Given the description of an element on the screen output the (x, y) to click on. 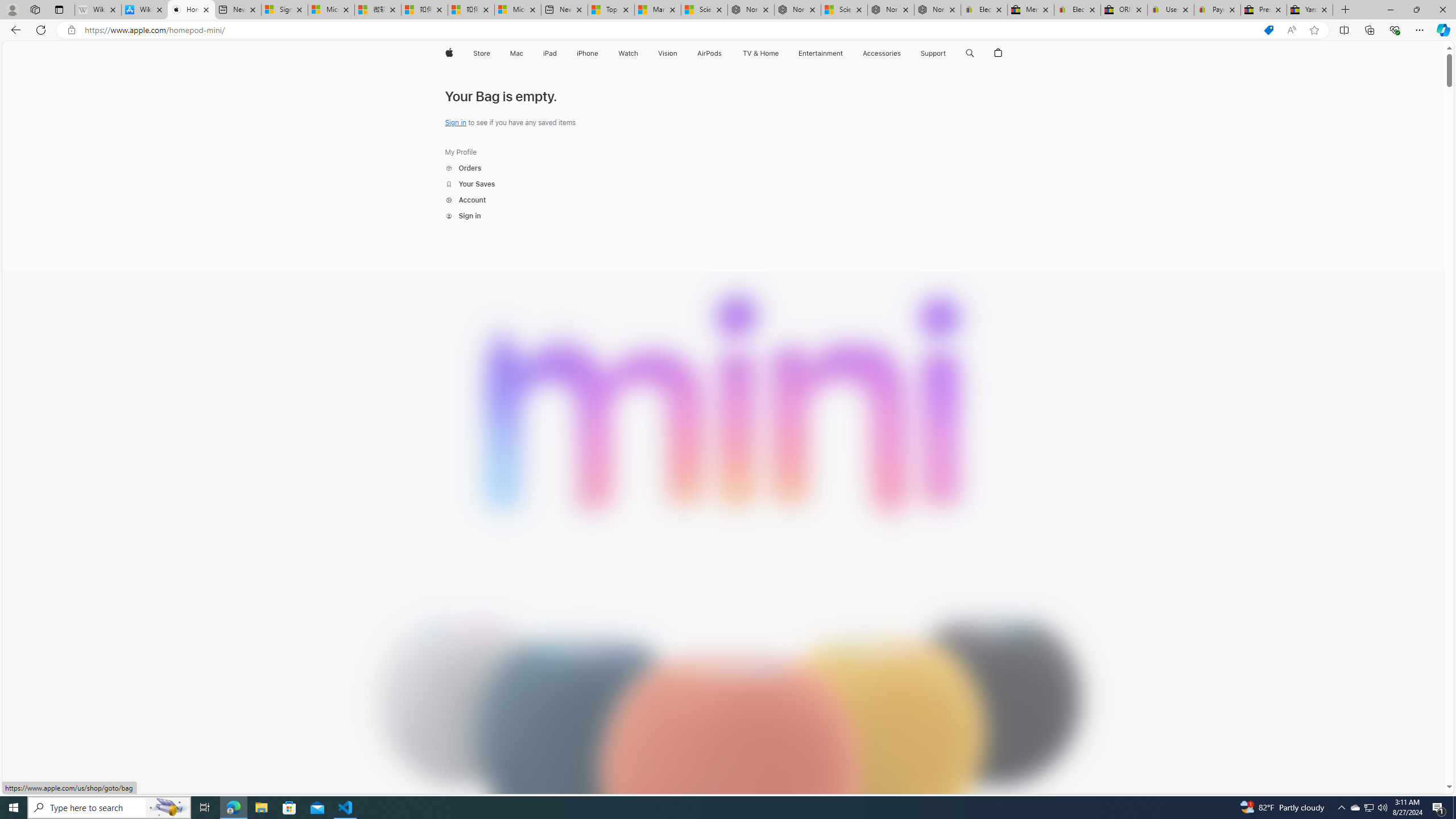
Support (932, 53)
iPad menu (557, 53)
Store (481, 53)
Entertainment menu (844, 53)
Account (470, 200)
Vision menu (678, 53)
Watch menu (640, 53)
HomePod mini - Apple (191, 9)
Buy HomePod mini (989, 80)
Mac menu (524, 53)
